Given the description of an element on the screen output the (x, y) to click on. 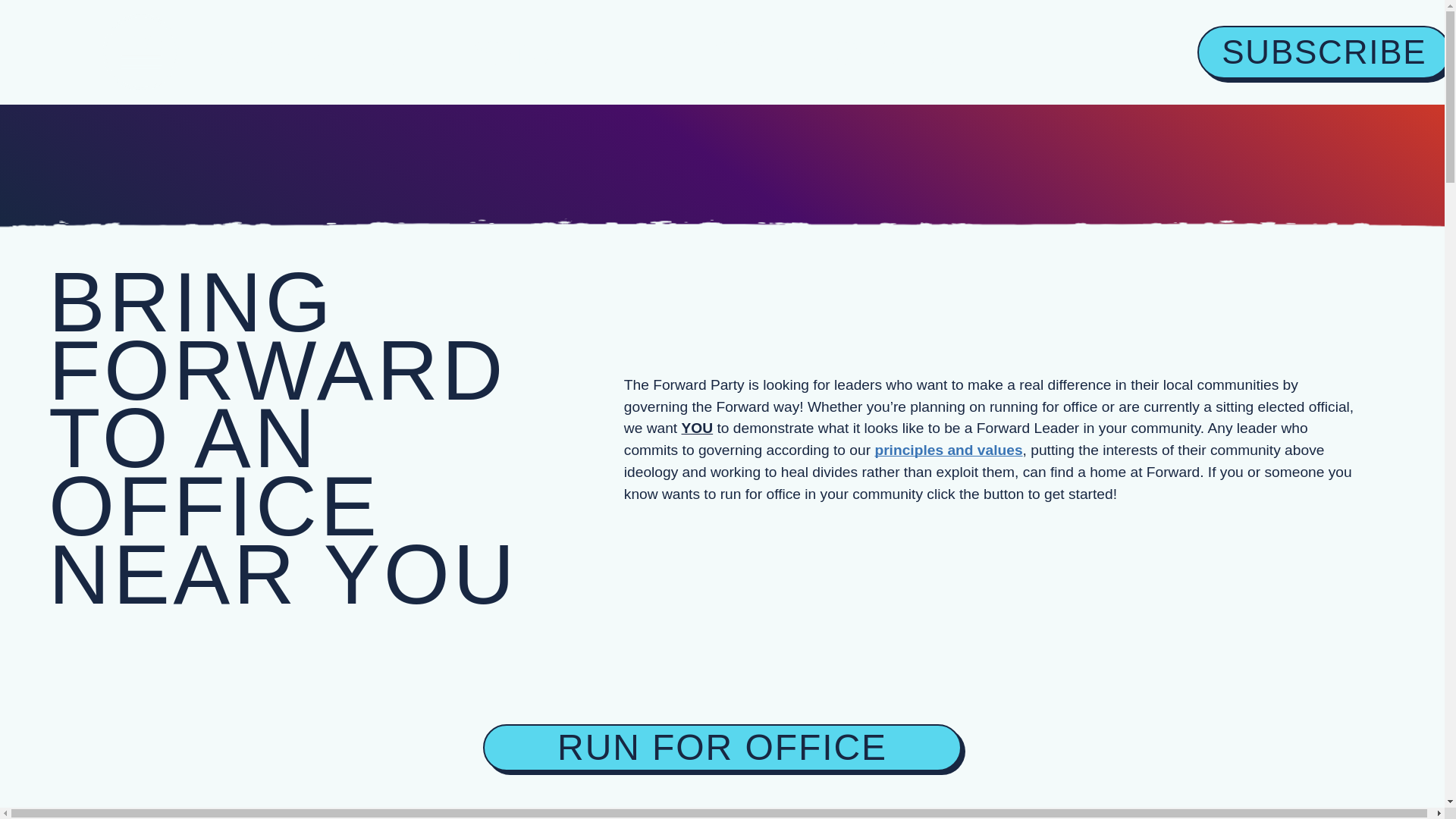
principles and values (948, 449)
RUN FOR OFFICE (721, 747)
JOIN US (891, 52)
SHOP (714, 52)
DONATE (535, 52)
ABOUT US (311, 52)
